Given the description of an element on the screen output the (x, y) to click on. 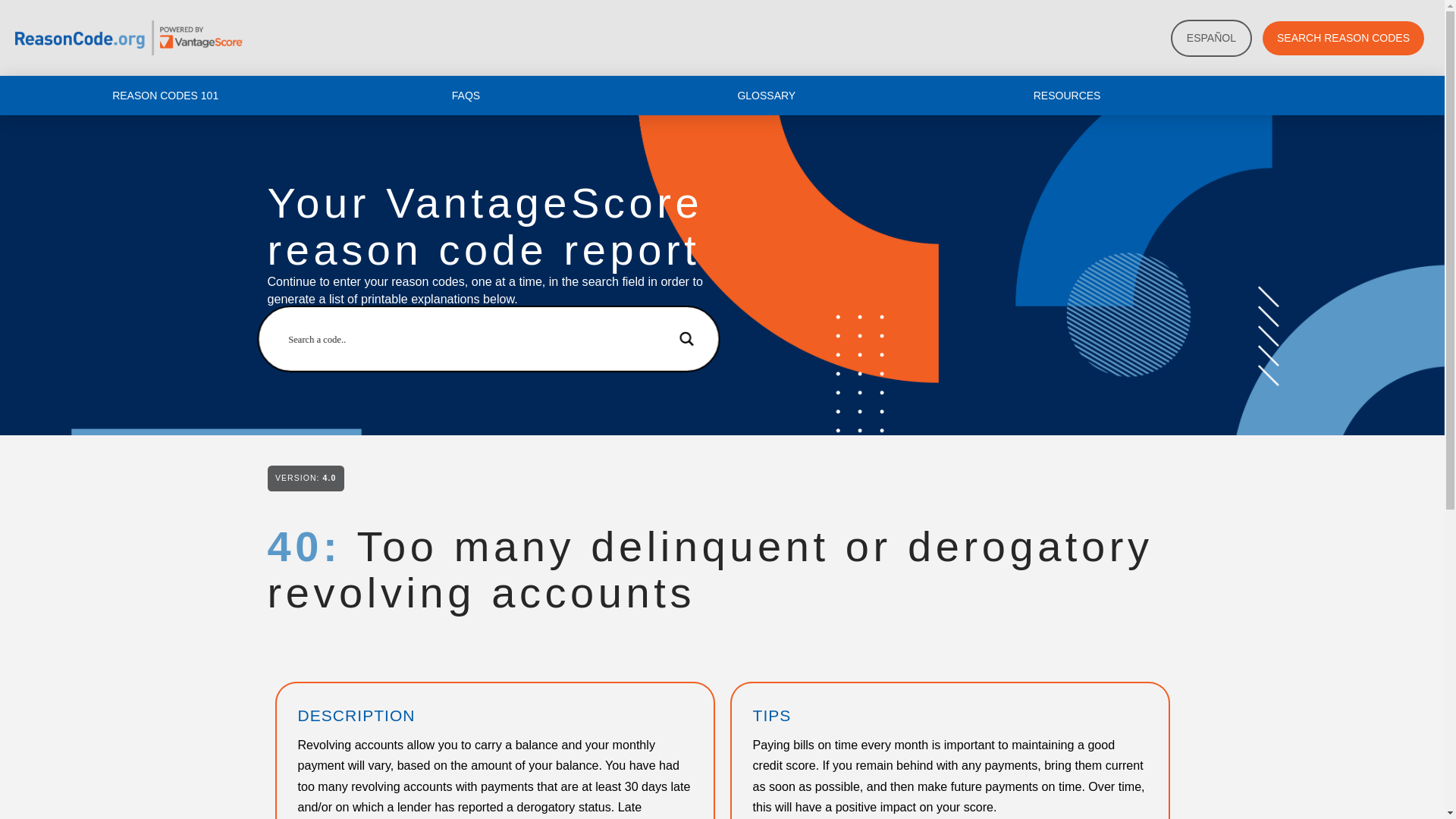
RESOURCES (1067, 95)
REASON CODES 101 (164, 95)
GLOSSARY (766, 95)
SEARCH REASON CODES (1342, 38)
FAQS (465, 95)
